Given the description of an element on the screen output the (x, y) to click on. 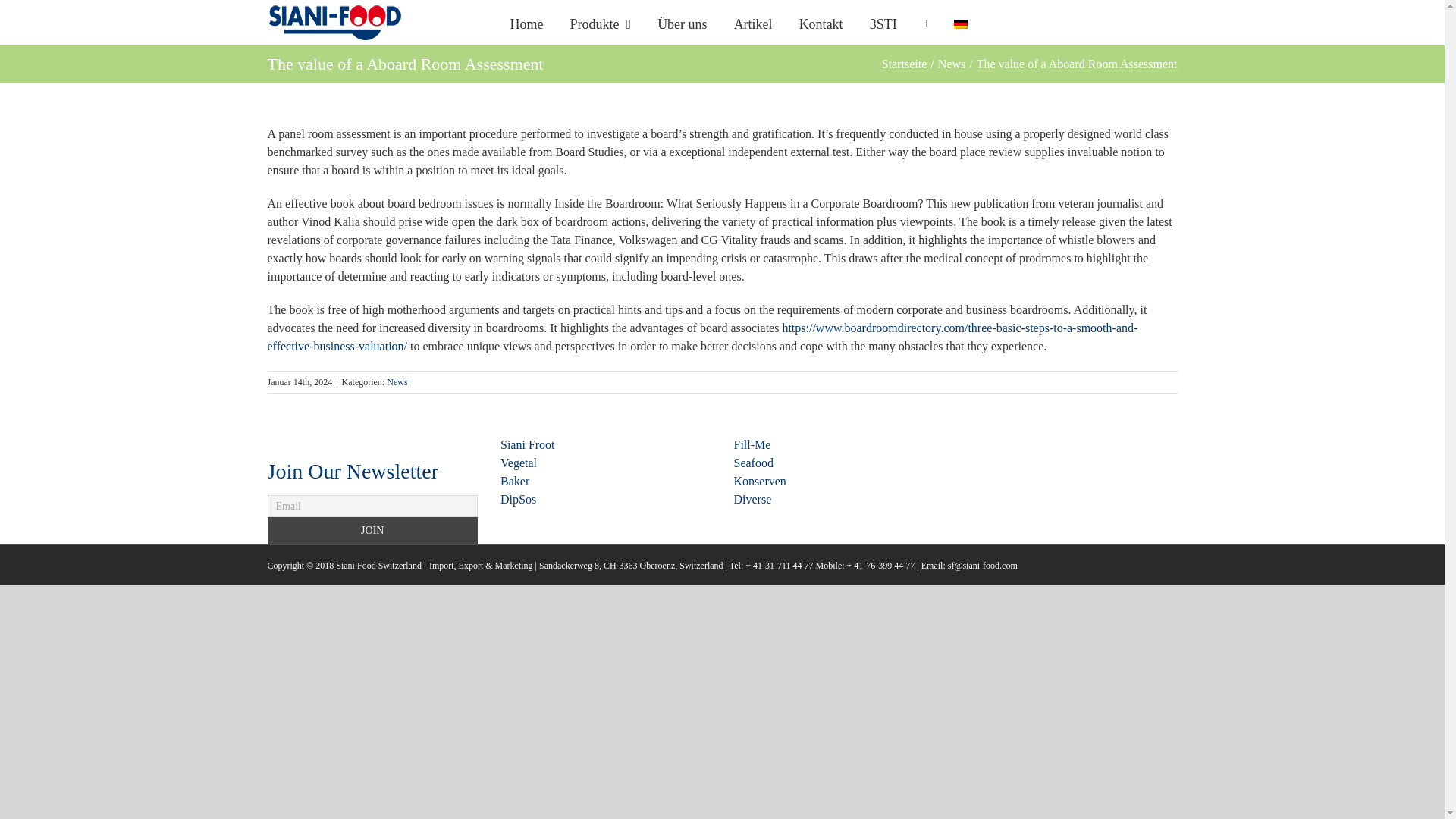
Kontakt (821, 22)
3STI (882, 22)
Produkte (600, 22)
Home (527, 22)
JOIN (371, 530)
Artikel (753, 22)
